Given the description of an element on the screen output the (x, y) to click on. 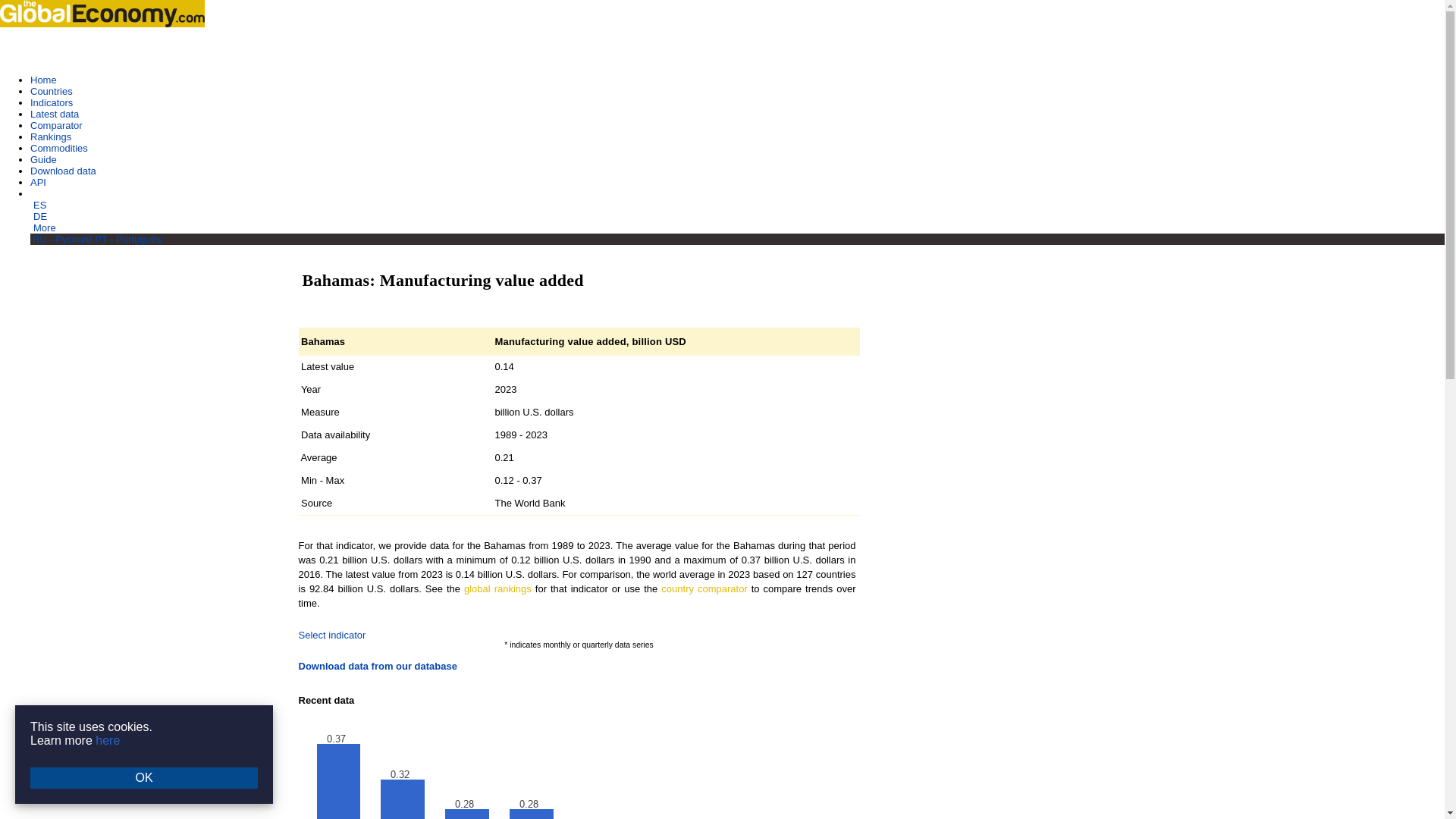
Indicators (51, 102)
Rankings (50, 136)
API (38, 182)
Latest data (54, 113)
EN (38, 193)
More (44, 227)
DE (39, 215)
Guide (43, 159)
Commodities (58, 147)
Comparator (56, 125)
Download data (63, 170)
Select indicator (332, 634)
global rankings (497, 588)
country comparator (703, 588)
Home (43, 79)
